Given the description of an element on the screen output the (x, y) to click on. 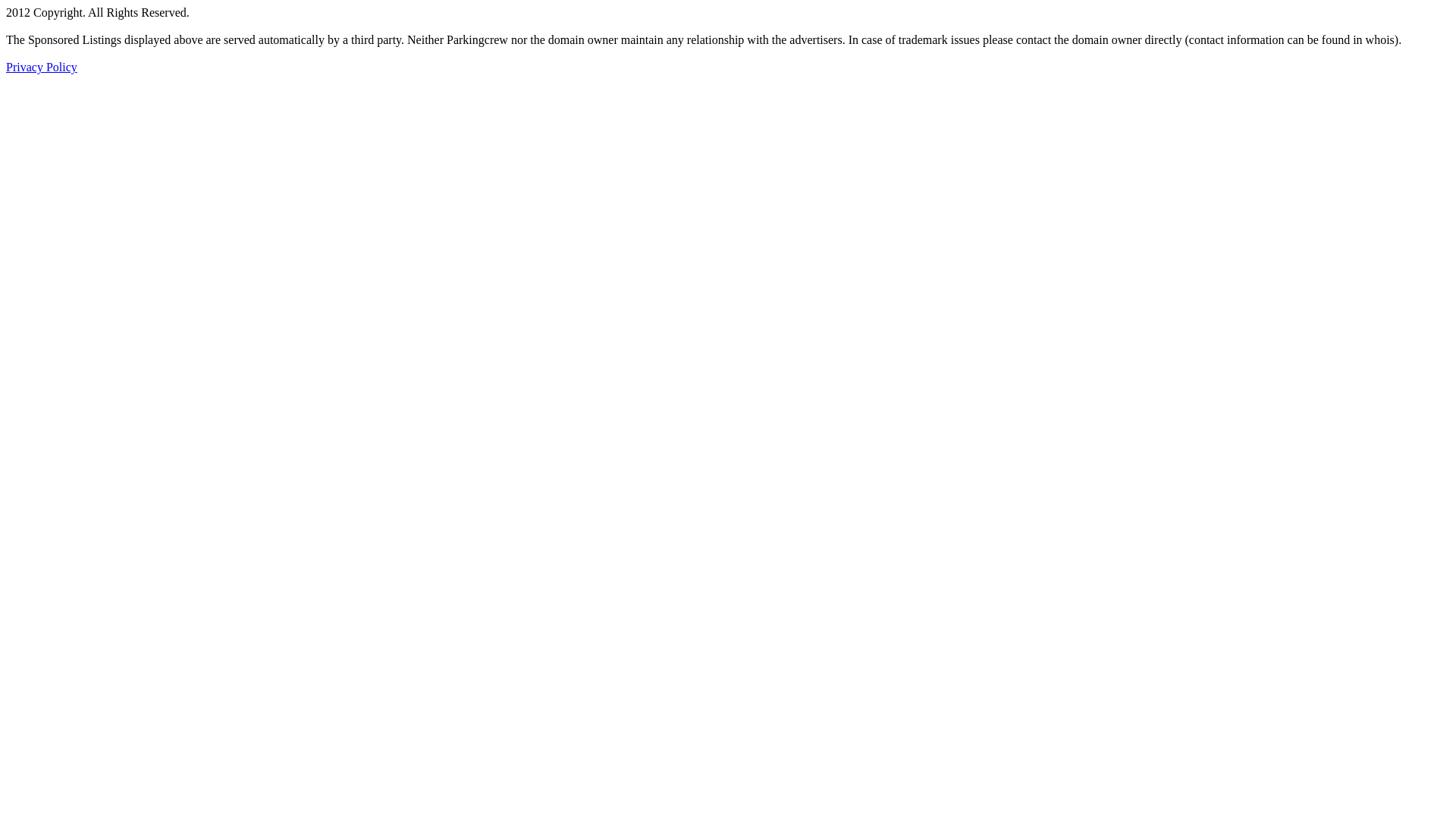
Privacy Policy Element type: text (41, 66)
